Given the description of an element on the screen output the (x, y) to click on. 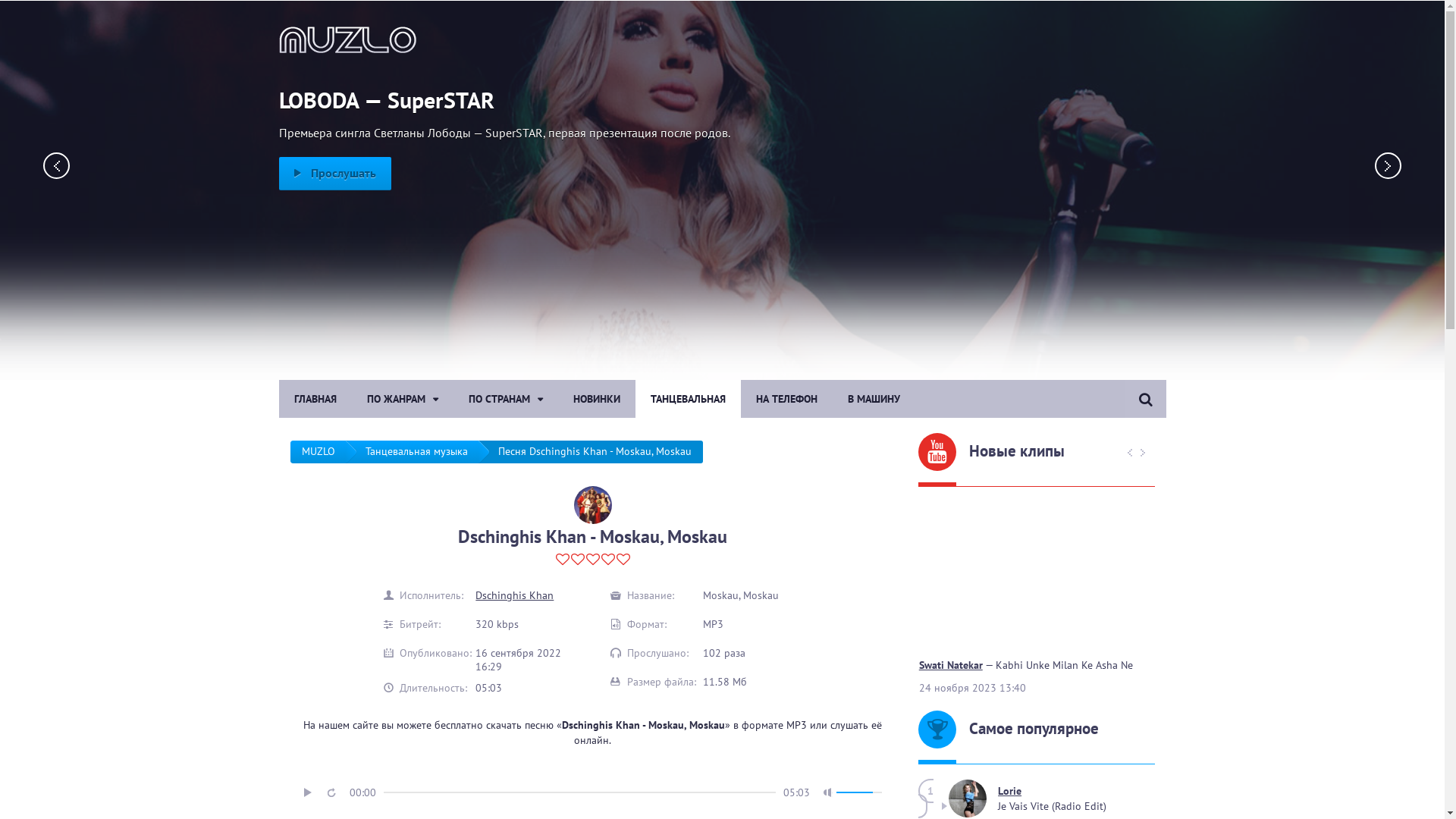
MUZLO Element type: text (317, 451)
Play/Pause Element type: hover (307, 792)
Lorie
Je Vais Vite (Radio Edit) Element type: text (1045, 798)
Toggle Loop Element type: hover (330, 792)
Dschinghis Khan Element type: text (514, 595)
Mute Toggle Element type: hover (827, 792)
